Given the description of an element on the screen output the (x, y) to click on. 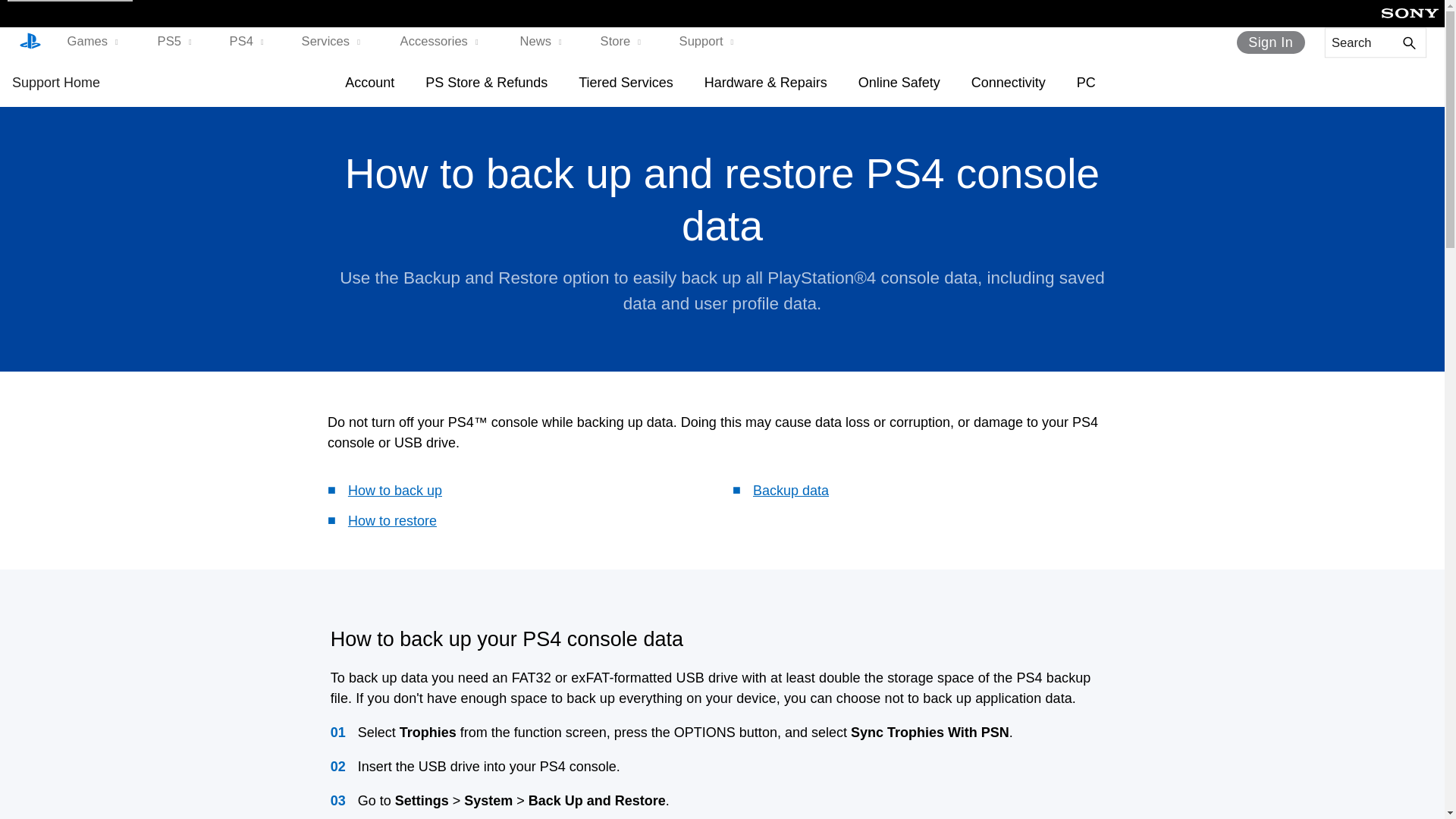
Skip to main content (69, 0)
PS4 (247, 42)
Accessories (442, 42)
PS5 (176, 42)
Services (333, 42)
Games (95, 42)
